Given the description of an element on the screen output the (x, y) to click on. 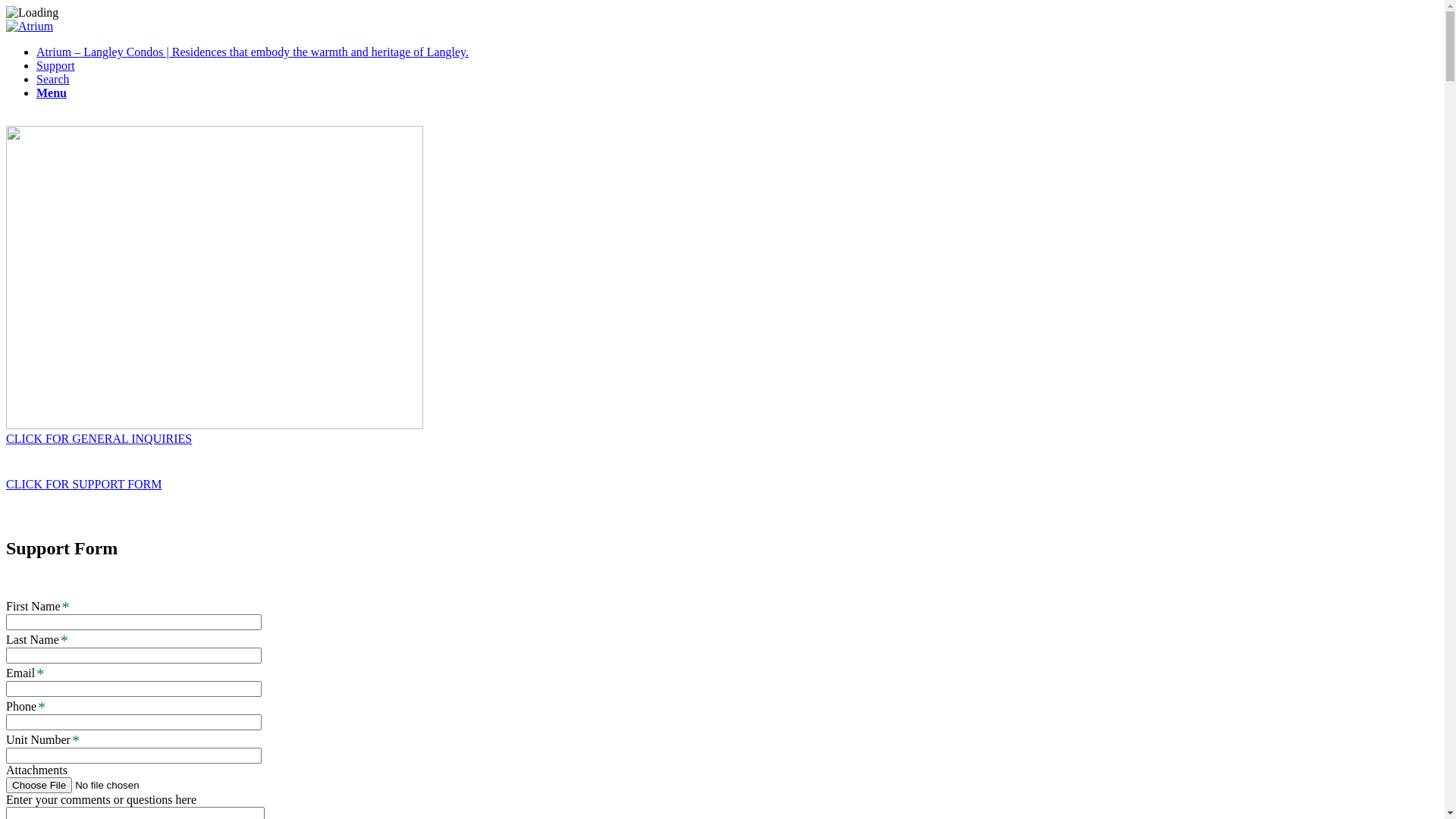
CLICK FOR GENERAL INQUIRIES Element type: text (98, 438)
Loading Element type: hover (32, 12)
Menu Element type: text (51, 92)
google-maps Element type: hover (214, 277)
CLICK FOR SUPPORT FORM Element type: text (83, 483)
Search Element type: text (52, 78)
Support Element type: text (55, 65)
